Given the description of an element on the screen output the (x, y) to click on. 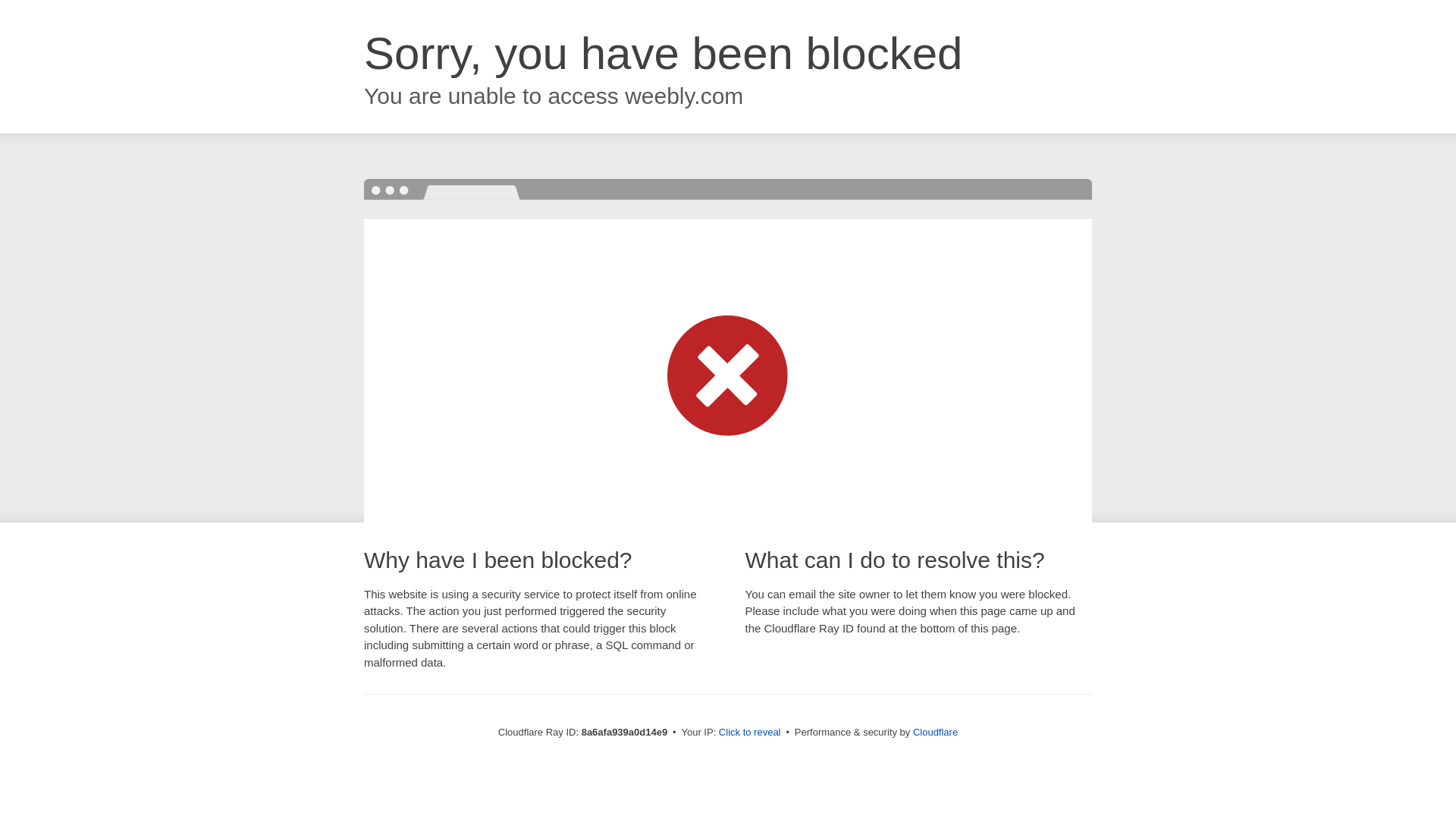
Click to reveal (749, 732)
Cloudflare (935, 731)
